Given the description of an element on the screen output the (x, y) to click on. 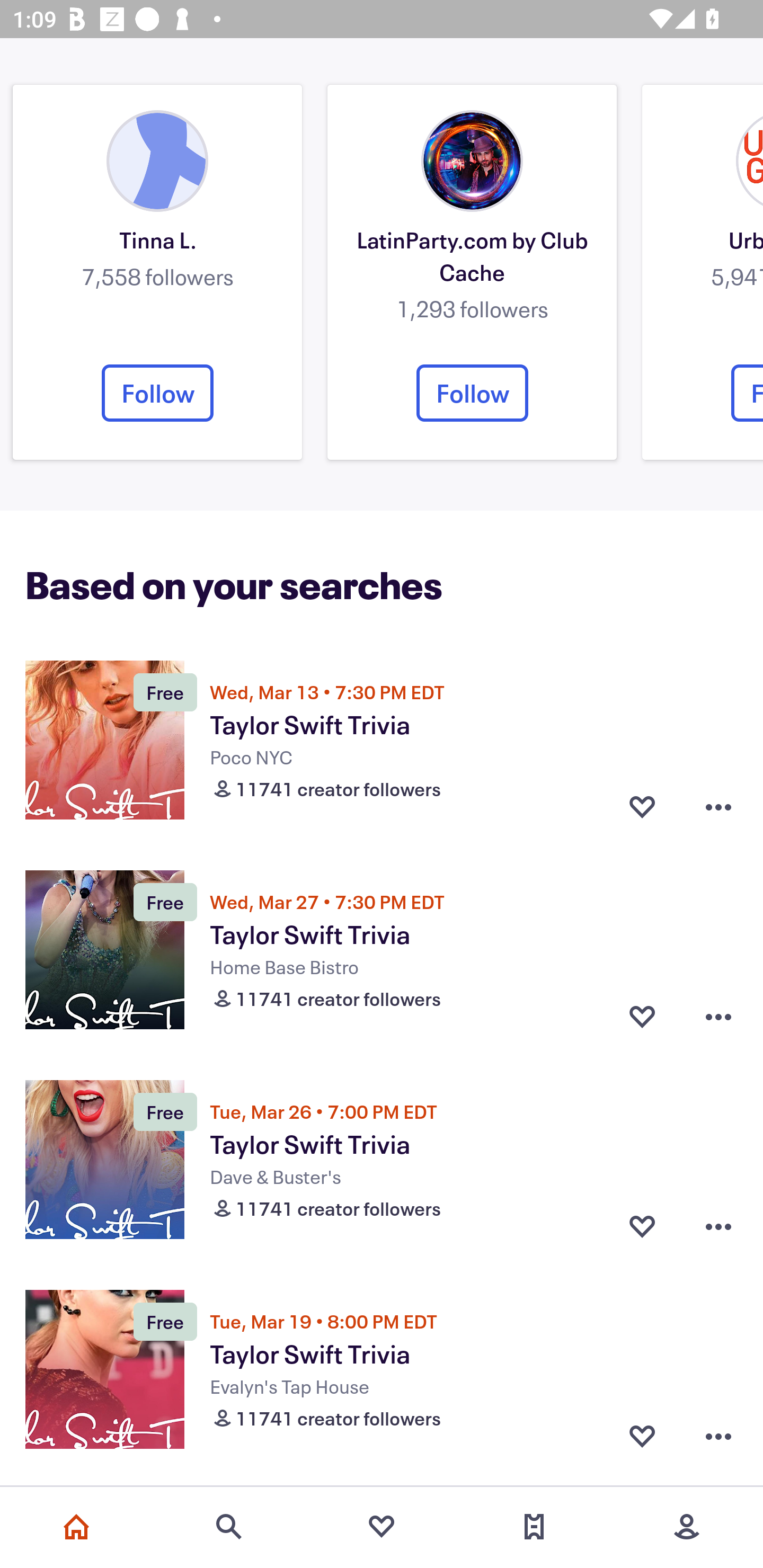
Home (76, 1526)
Search events (228, 1526)
Favorites (381, 1526)
Tickets (533, 1526)
More (686, 1526)
